Given the description of an element on the screen output the (x, y) to click on. 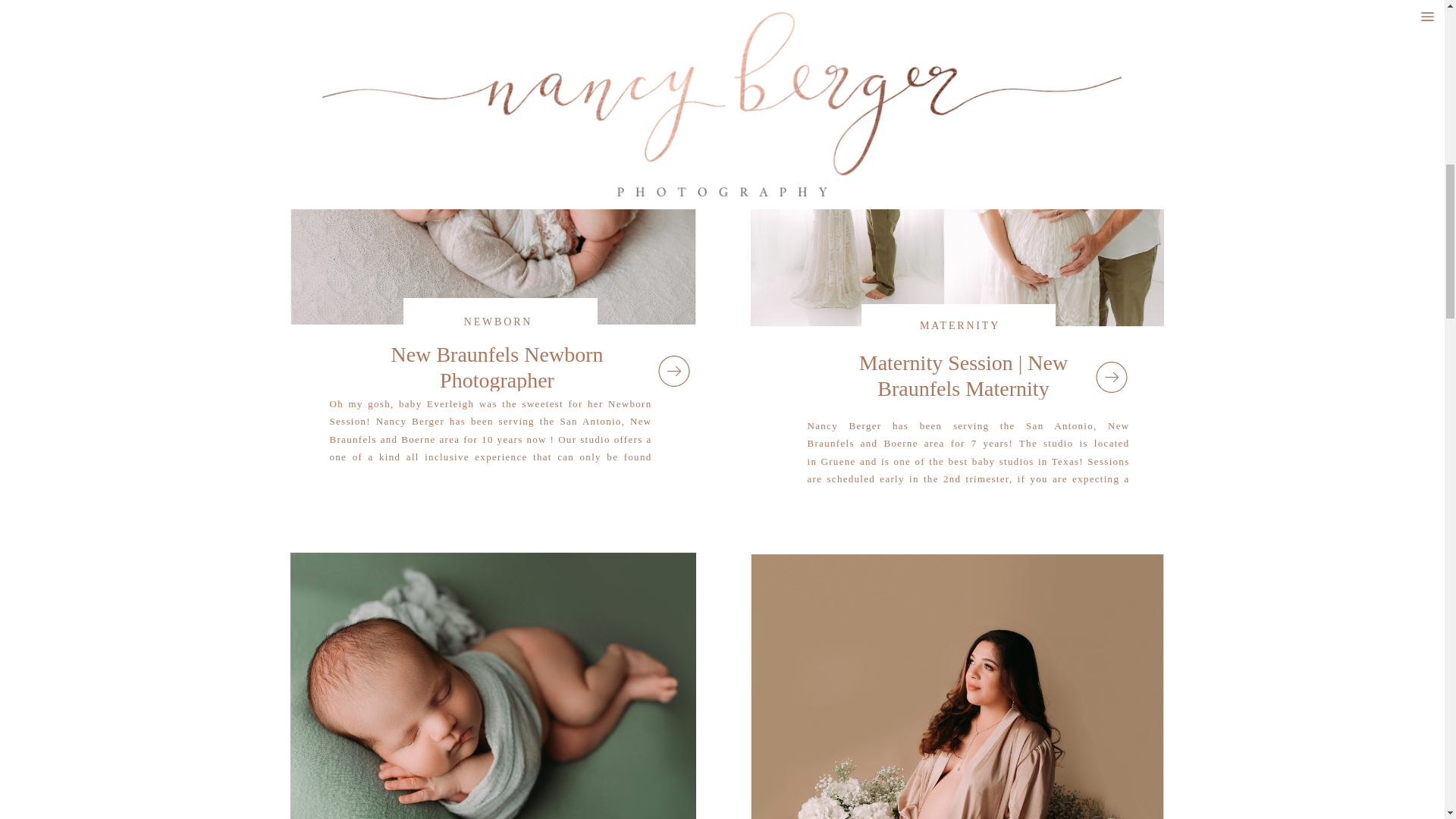
New Braunfels Newborn Photographer (674, 370)
MATERNITY (960, 325)
NEWBORN (498, 321)
New Braunfels Newborn Photographer (492, 166)
San Antonio Maternity Photography Studio (957, 686)
New Braunfels Newborn Photographer (497, 367)
